Given the description of an element on the screen output the (x, y) to click on. 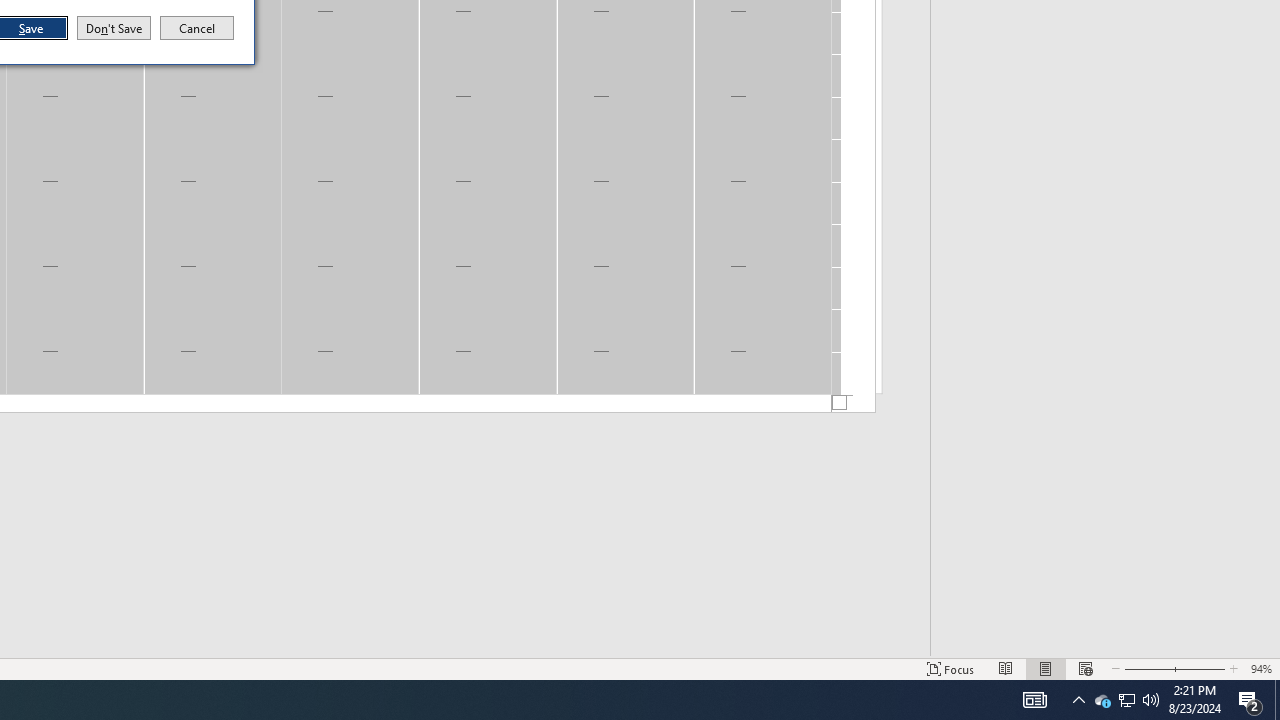
Print Layout (1046, 668)
Q2790: 100% (1151, 699)
Zoom Out (1147, 668)
Zoom In (1199, 668)
